Given the description of an element on the screen output the (x, y) to click on. 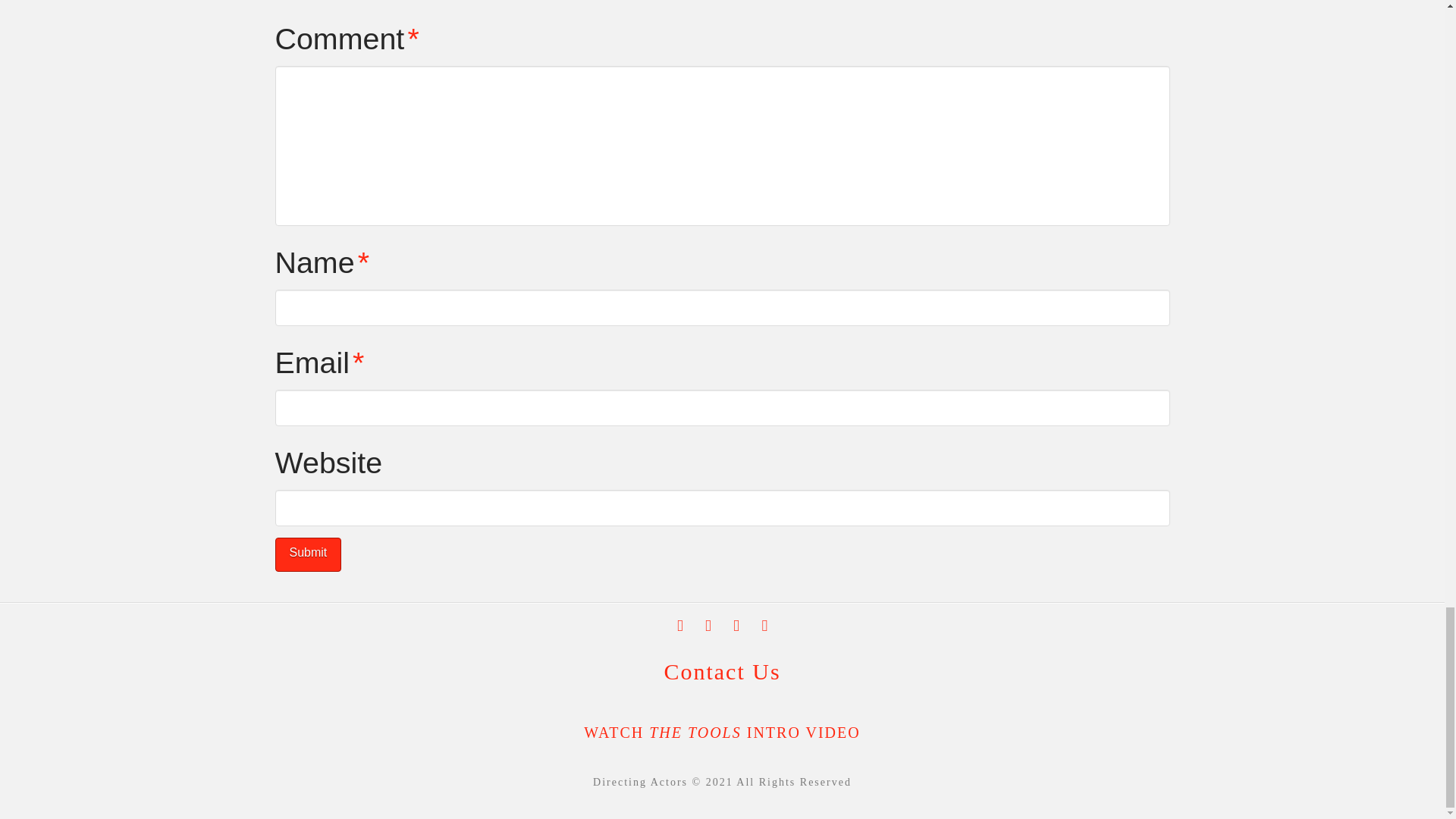
Submit (307, 554)
Contact Us (721, 671)
Submit (307, 554)
